Given the description of an element on the screen output the (x, y) to click on. 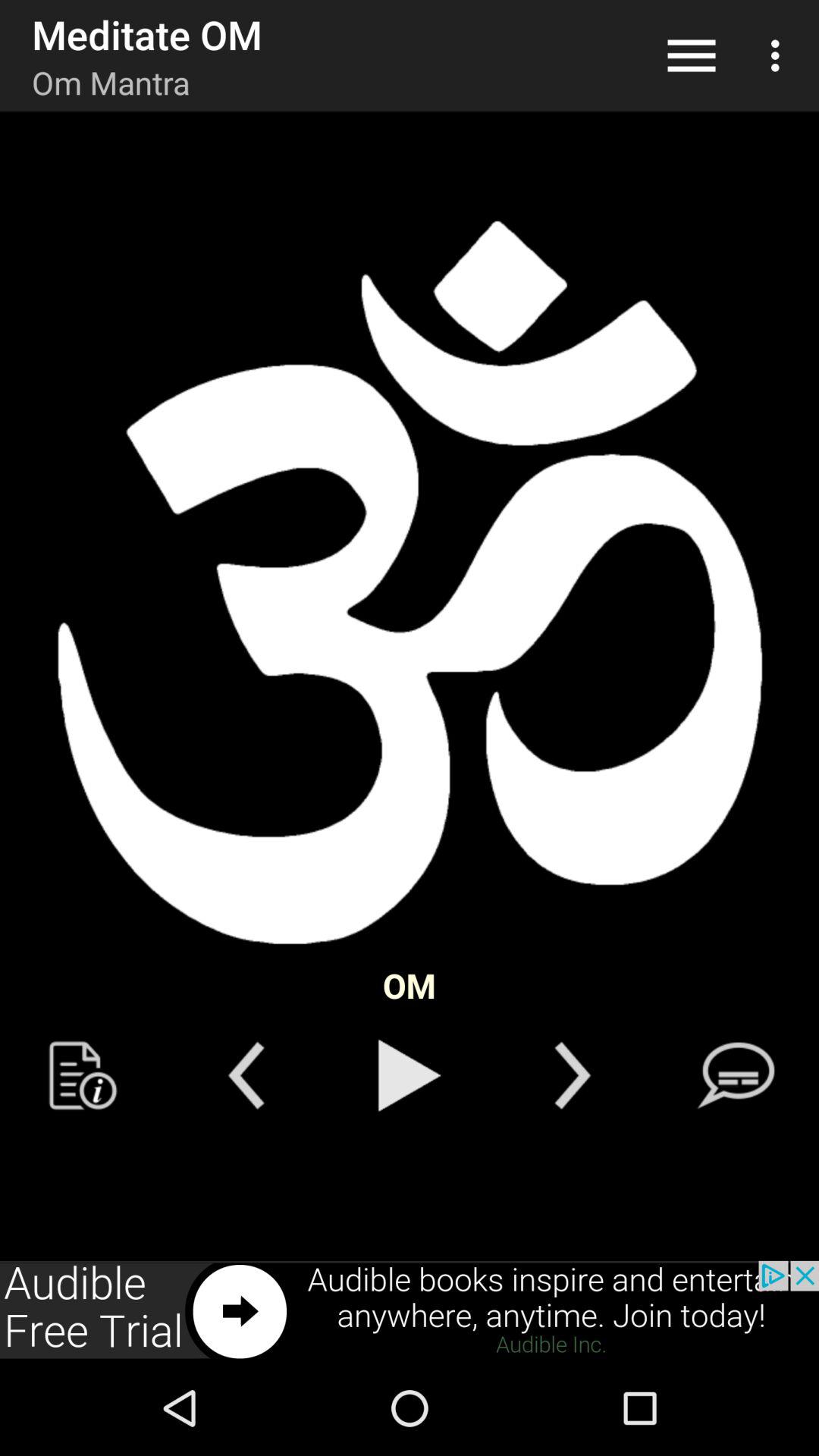
go to ride (246, 1075)
